Given the description of an element on the screen output the (x, y) to click on. 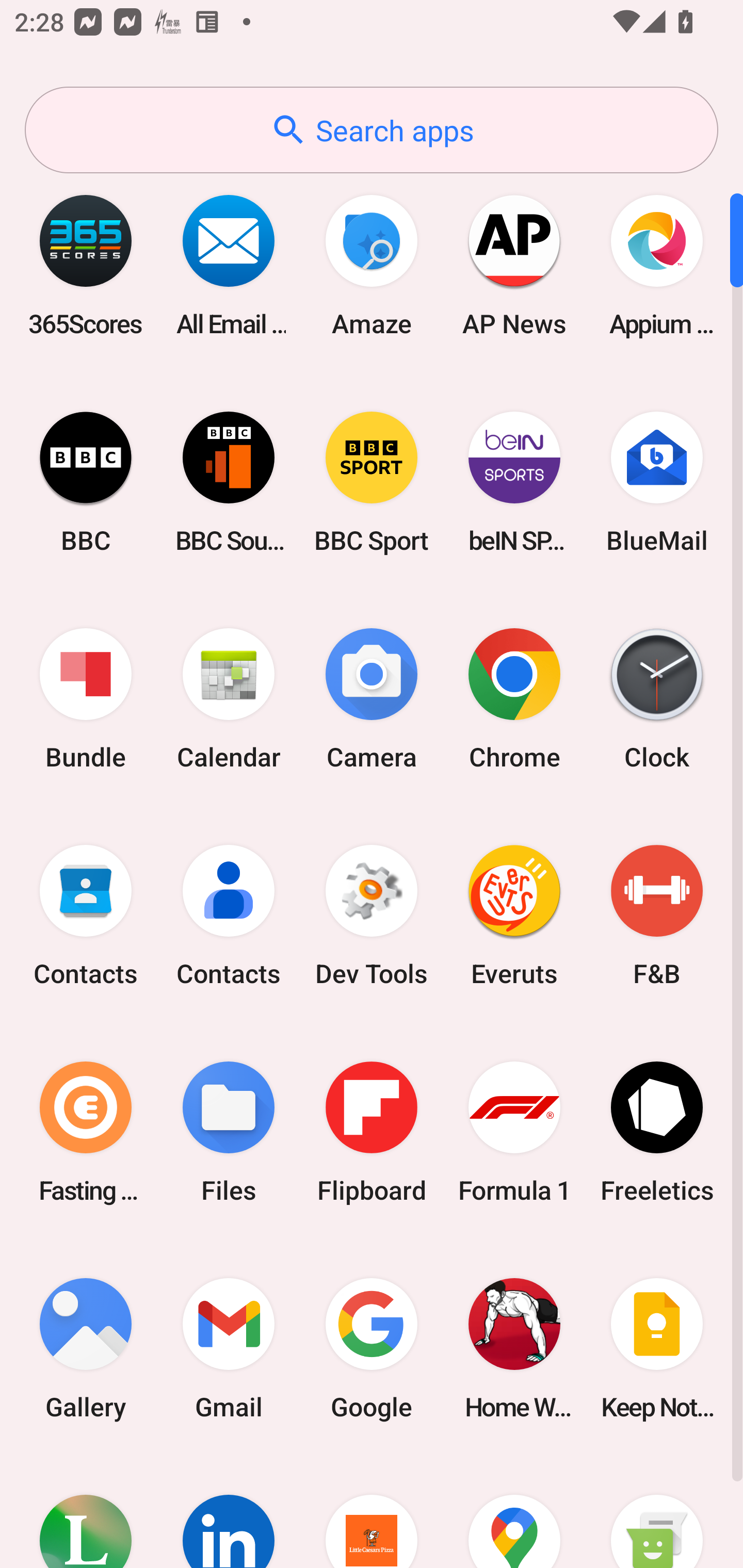
  Search apps (371, 130)
365Scores (85, 264)
All Email Connect (228, 264)
Amaze (371, 264)
AP News (514, 264)
Appium Settings (656, 264)
BBC (85, 482)
BBC Sounds (228, 482)
BBC Sport (371, 482)
beIN SPORTS (514, 482)
BlueMail (656, 482)
Bundle (85, 699)
Calendar (228, 699)
Camera (371, 699)
Chrome (514, 699)
Clock (656, 699)
Contacts (85, 915)
Contacts (228, 915)
Dev Tools (371, 915)
Everuts (514, 915)
F&B (656, 915)
Fasting Coach (85, 1131)
Files (228, 1131)
Flipboard (371, 1131)
Formula 1 (514, 1131)
Freeletics (656, 1131)
Gallery (85, 1348)
Gmail (228, 1348)
Google (371, 1348)
Home Workout (514, 1348)
Keep Notes (656, 1348)
Lifesum (85, 1512)
LinkedIn (228, 1512)
Little Caesars Pizza (371, 1512)
Maps (514, 1512)
Messaging (656, 1512)
